Given the description of an element on the screen output the (x, y) to click on. 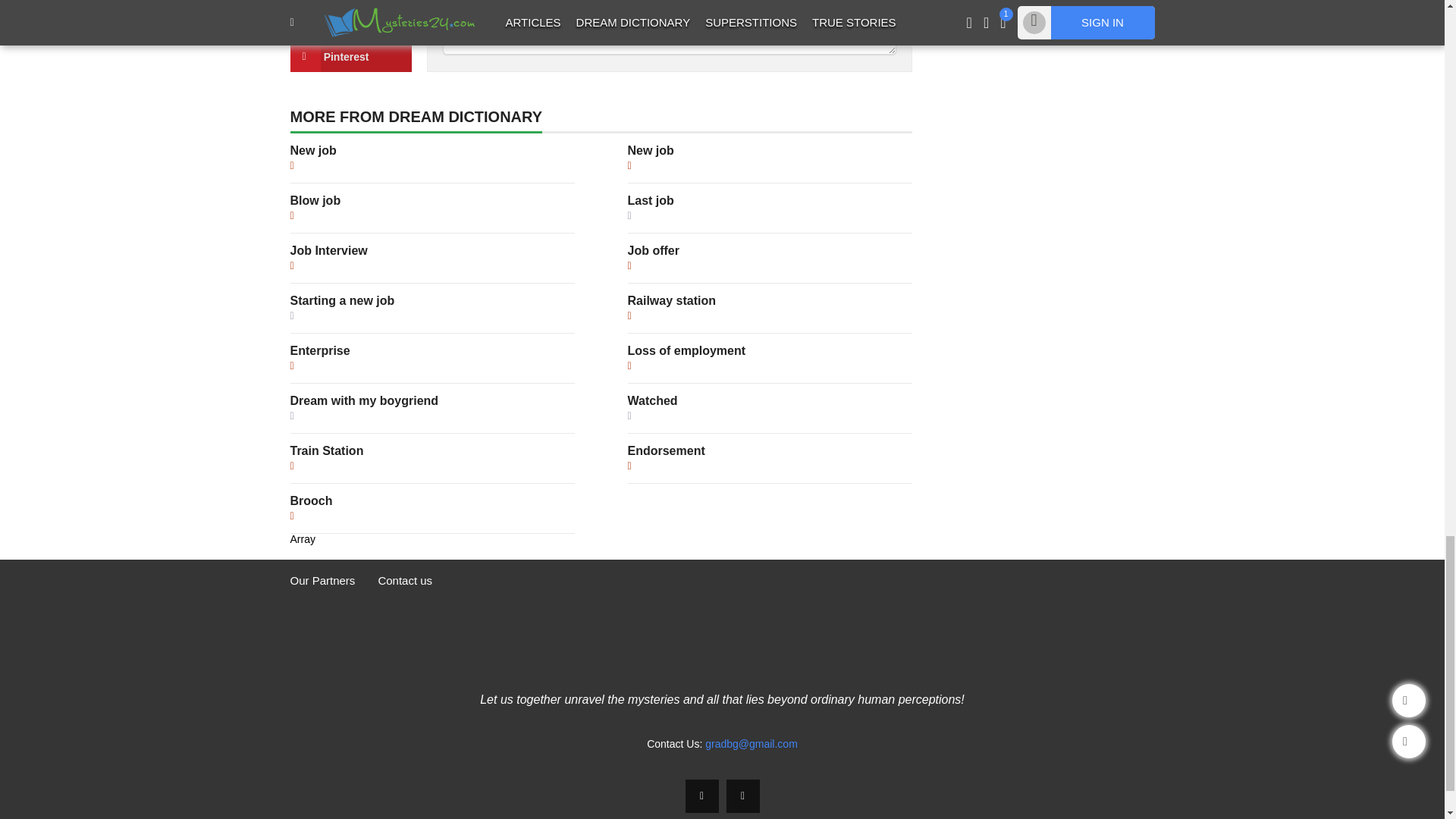
Blow job (314, 200)
New job (650, 150)
Job Interview (327, 250)
New job (312, 150)
Last job (650, 200)
